Given the description of an element on the screen output the (x, y) to click on. 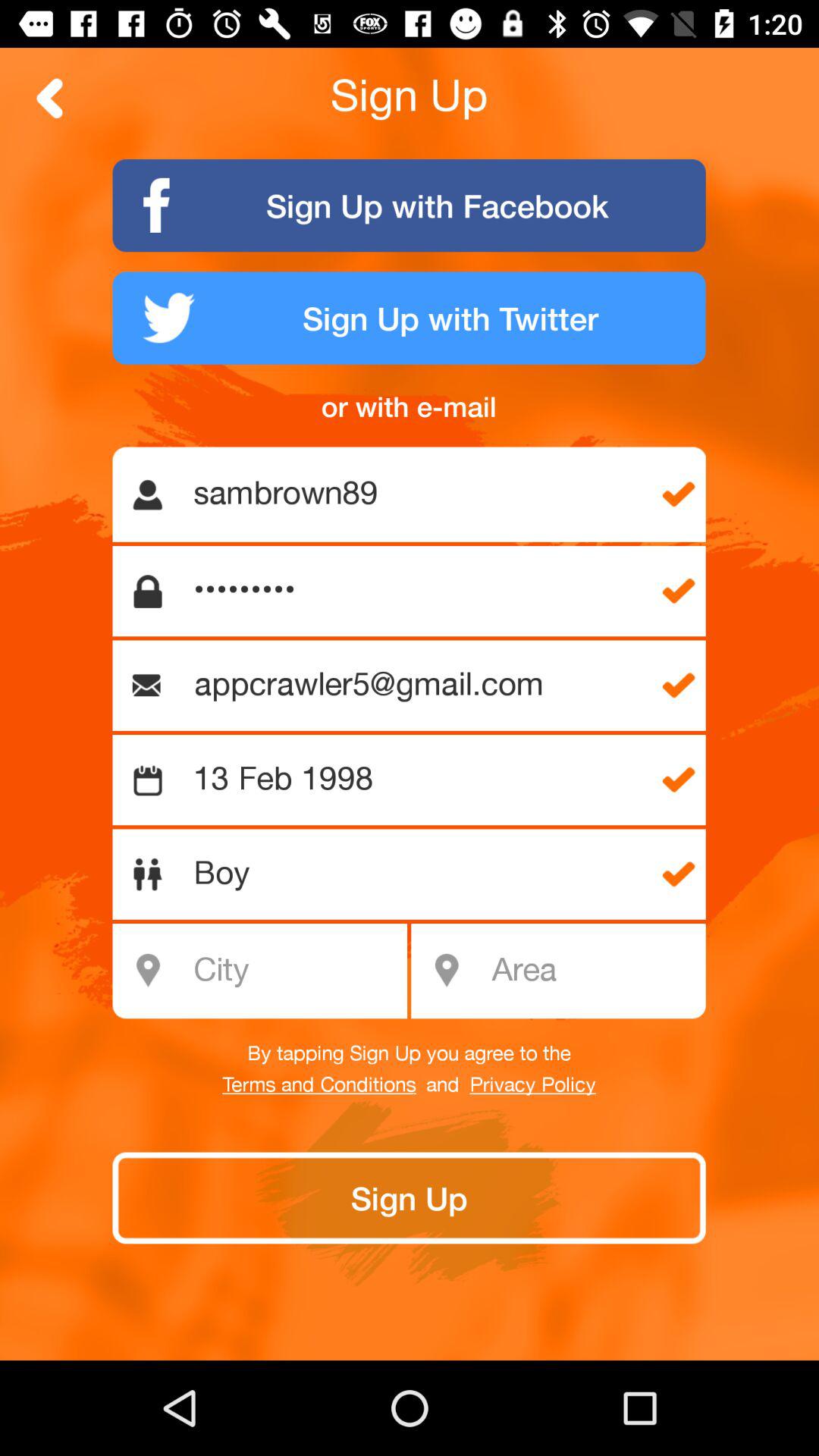
turn on the item to the right of the and icon (532, 1085)
